Given the description of an element on the screen output the (x, y) to click on. 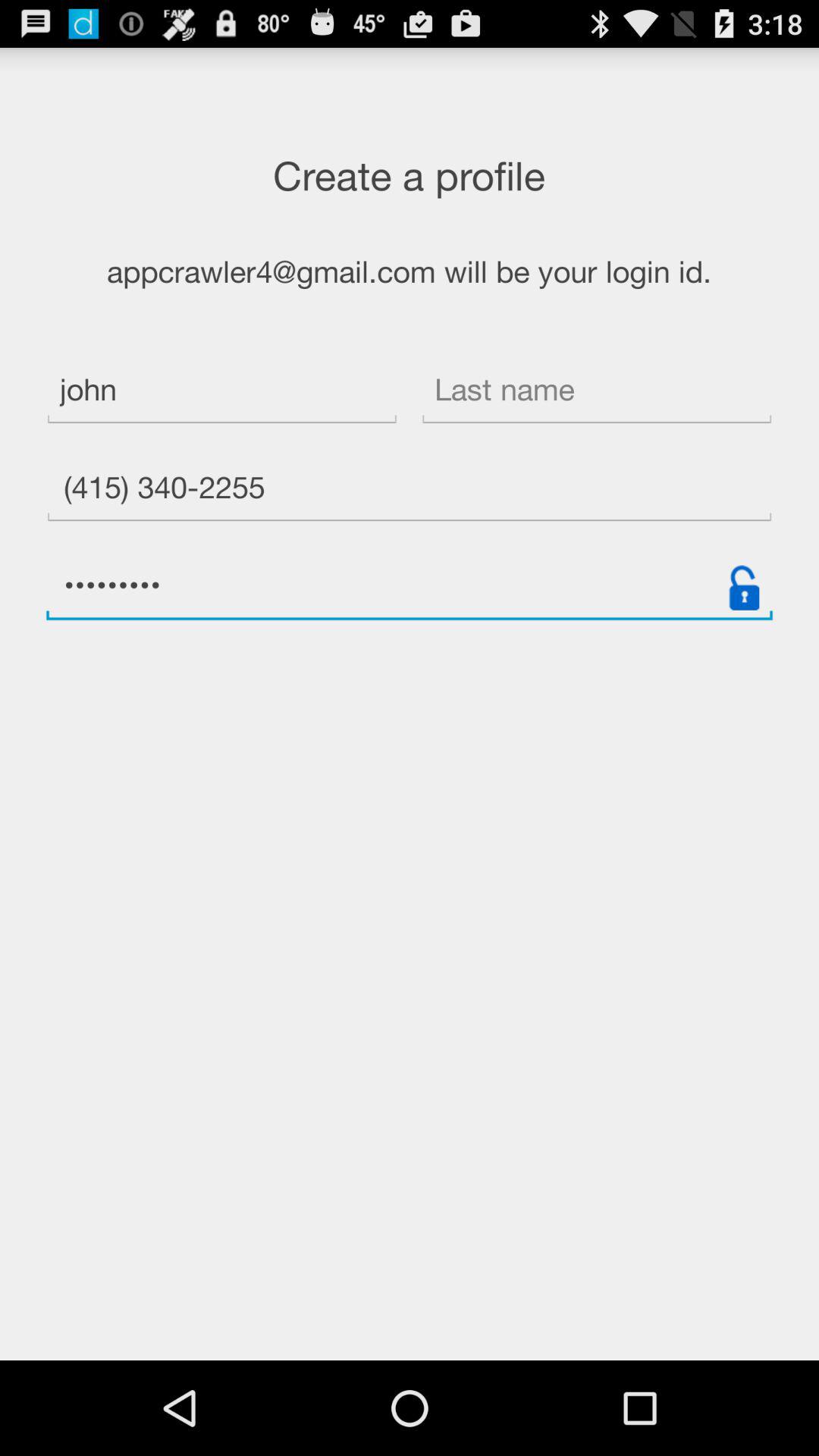
turn off the icon below the appcrawler4 gmail com item (221, 392)
